Given the description of an element on the screen output the (x, y) to click on. 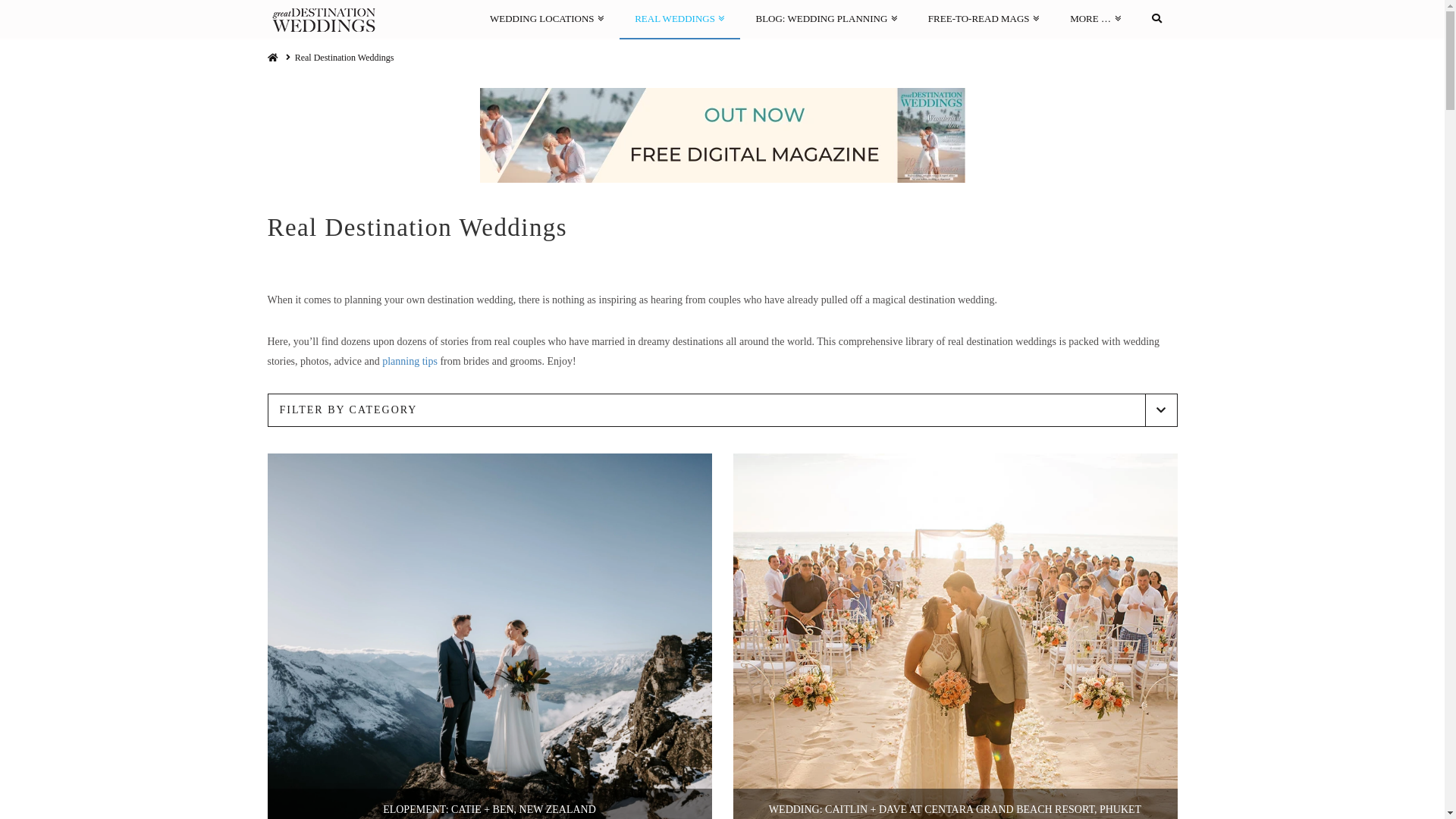
Home Element type: text (271, 57)
FILTER BY CATEGORY Element type: text (721, 409)
FREE-TO-READ MAGS Element type: text (983, 18)
REAL WEDDINGS Element type: text (679, 18)
Real Destination Weddings Element type: text (344, 57)
WEDDING LOCATIONS Element type: text (546, 18)
BLOG: WEDDING PLANNING Element type: text (826, 18)
planning tips Element type: text (409, 361)
